Given the description of an element on the screen output the (x, y) to click on. 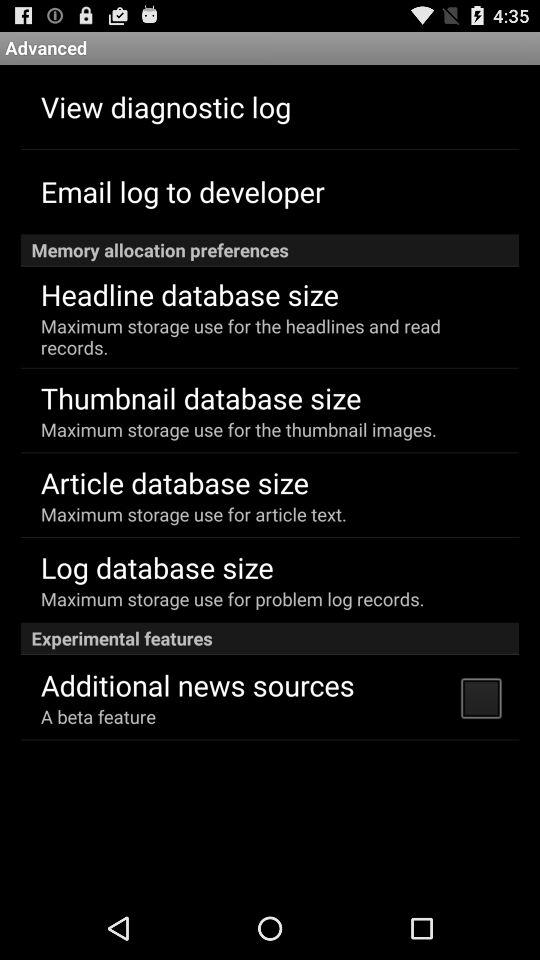
jump to the additional news sources app (197, 684)
